Given the description of an element on the screen output the (x, y) to click on. 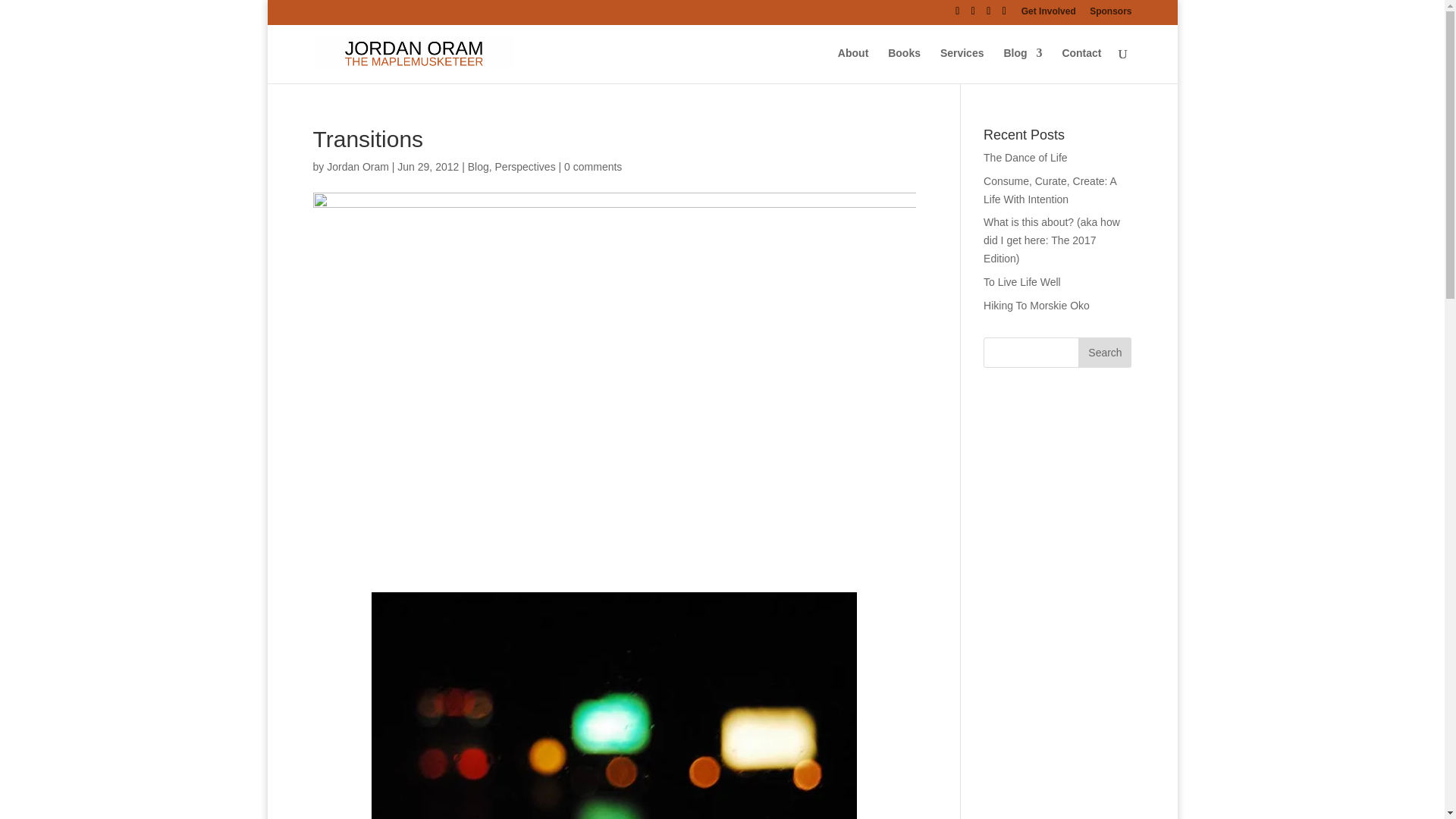
Transitions2 (614, 705)
Search (1104, 352)
Books (904, 65)
Sponsors (1110, 14)
Blog (478, 166)
Contact (1080, 65)
To Live Life Well (1022, 282)
Services (962, 65)
Perspectives (525, 166)
Hiking To Morskie Oko (1036, 305)
